Given the description of an element on the screen output the (x, y) to click on. 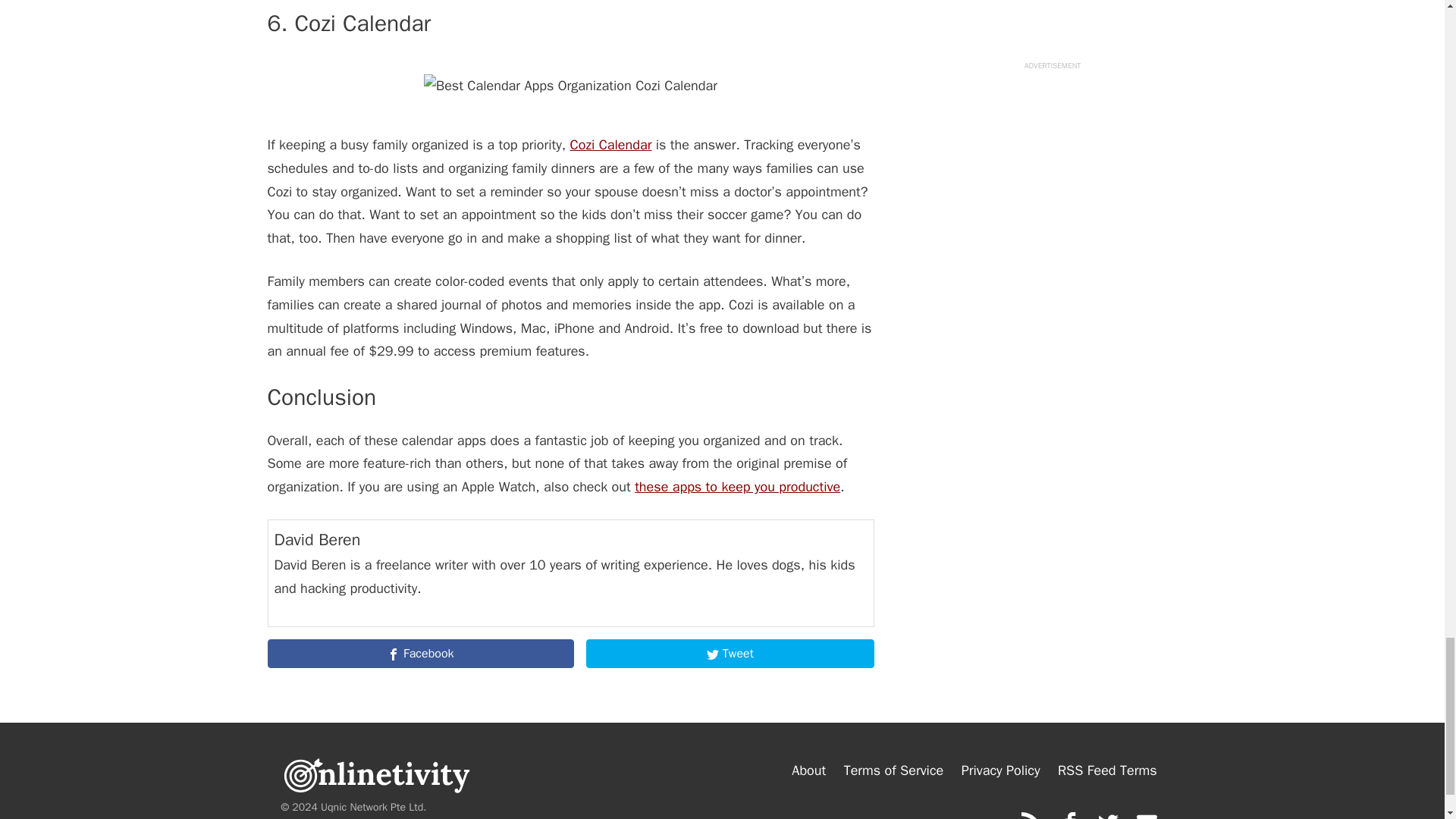
RSS Feed Terms (1107, 770)
Terms of Service (893, 770)
Tweet (729, 653)
these apps to keep you productive (737, 486)
Privacy Policy (1000, 770)
About (808, 770)
Facebook (419, 653)
Cozi Calendar (611, 144)
